Given the description of an element on the screen output the (x, y) to click on. 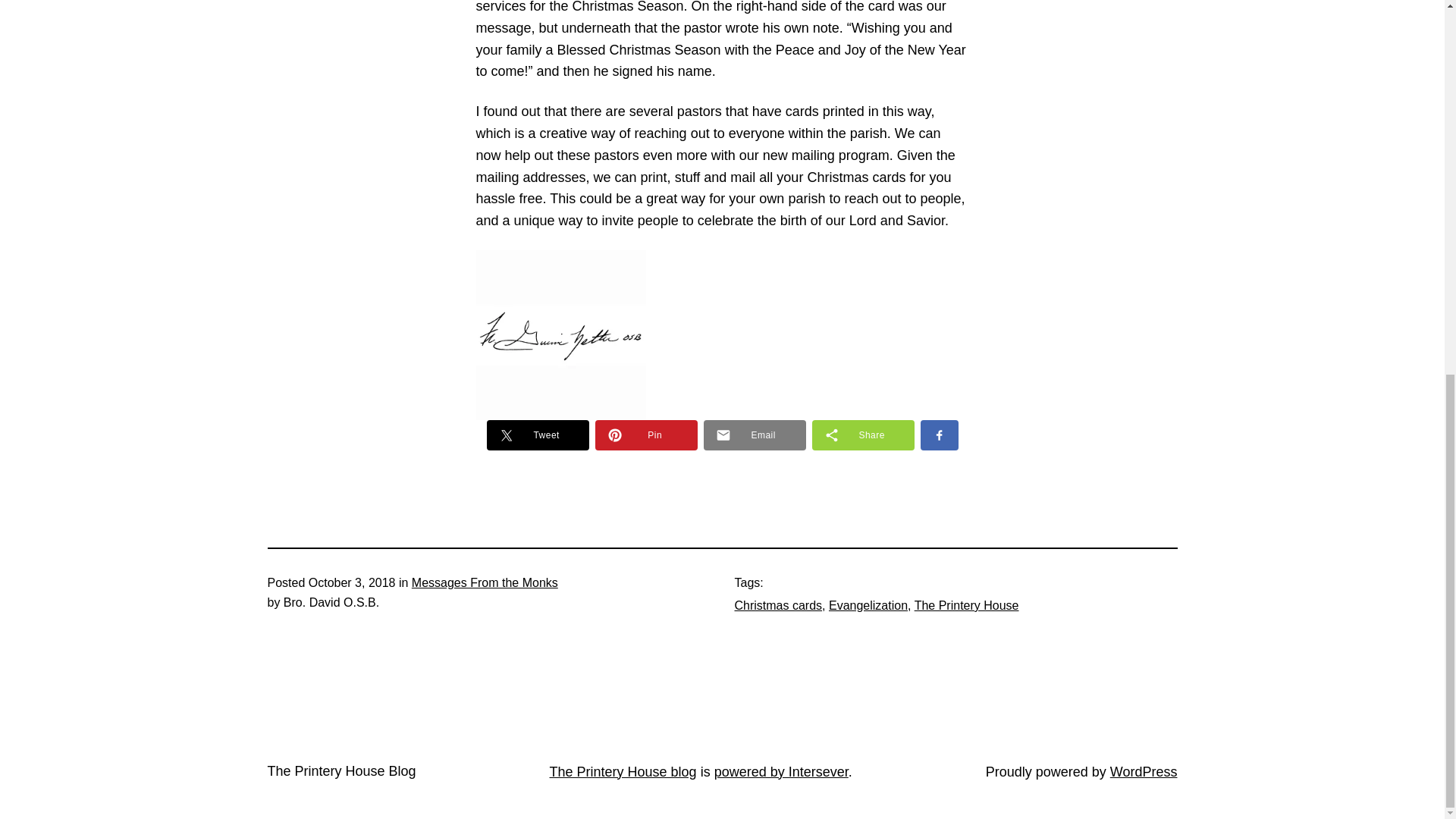
The Printery House (966, 604)
Christmas cards (777, 604)
powered by Intersever (781, 771)
Evangelization (867, 604)
WordPress (1143, 771)
The Printery House blog (623, 771)
The Printery House Blog (340, 770)
Messages From the Monks (484, 582)
